Given the description of an element on the screen output the (x, y) to click on. 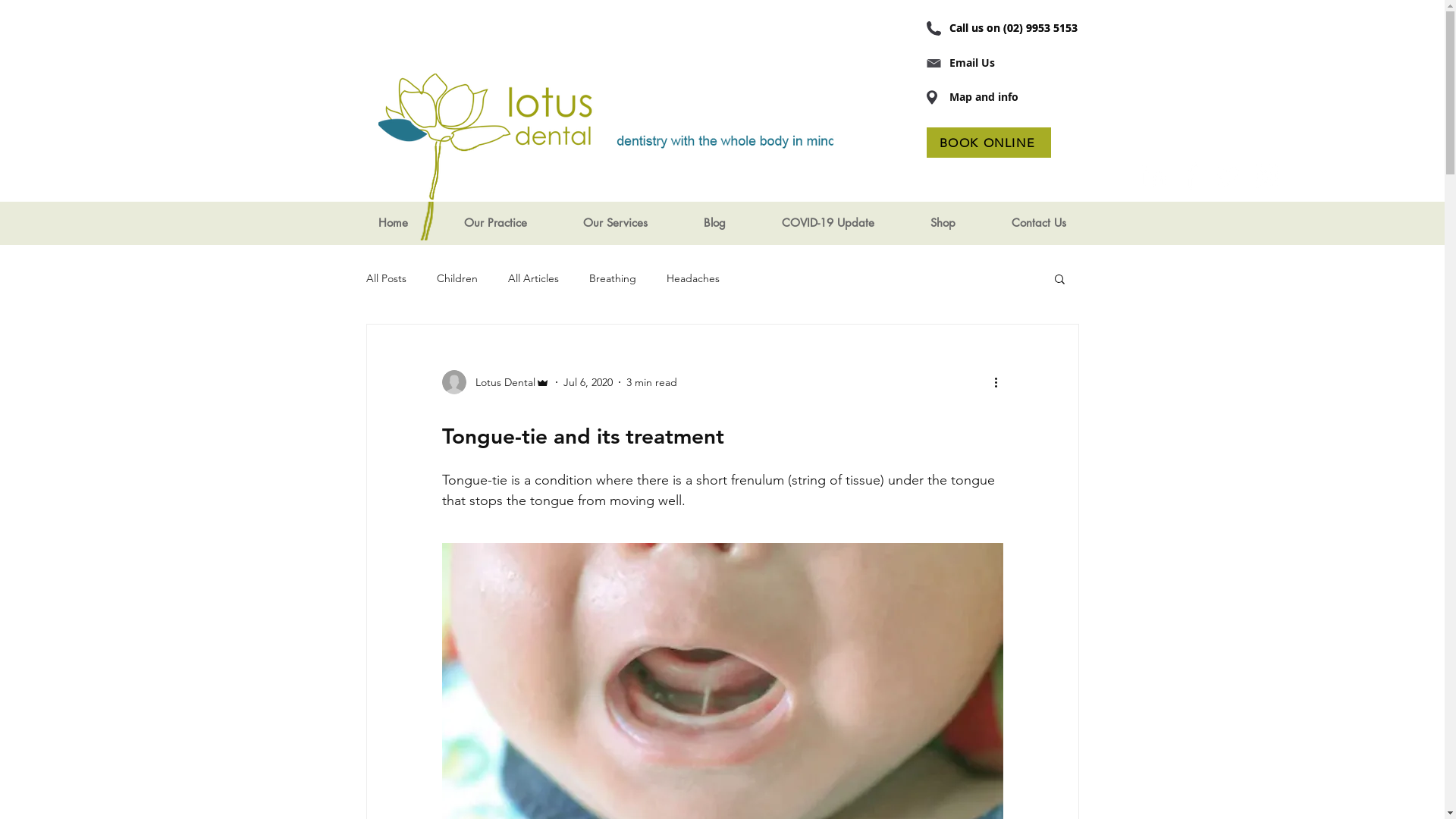
BOOK ONLINE Element type: text (988, 142)
Home Element type: text (392, 222)
Email Us Element type: text (971, 62)
Map and info Element type: text (983, 96)
All Posts Element type: text (385, 278)
Lotus Dental Element type: text (495, 382)
Children Element type: text (456, 278)
All Articles Element type: text (533, 278)
Contact Us Element type: text (1037, 222)
Breathing Element type: text (611, 278)
COVID-19 Update Element type: text (827, 222)
Call us on (02) 9953 5153 Element type: text (1013, 27)
Blog Element type: text (713, 222)
Shop Element type: text (942, 222)
Headaches Element type: text (691, 278)
